Given the description of an element on the screen output the (x, y) to click on. 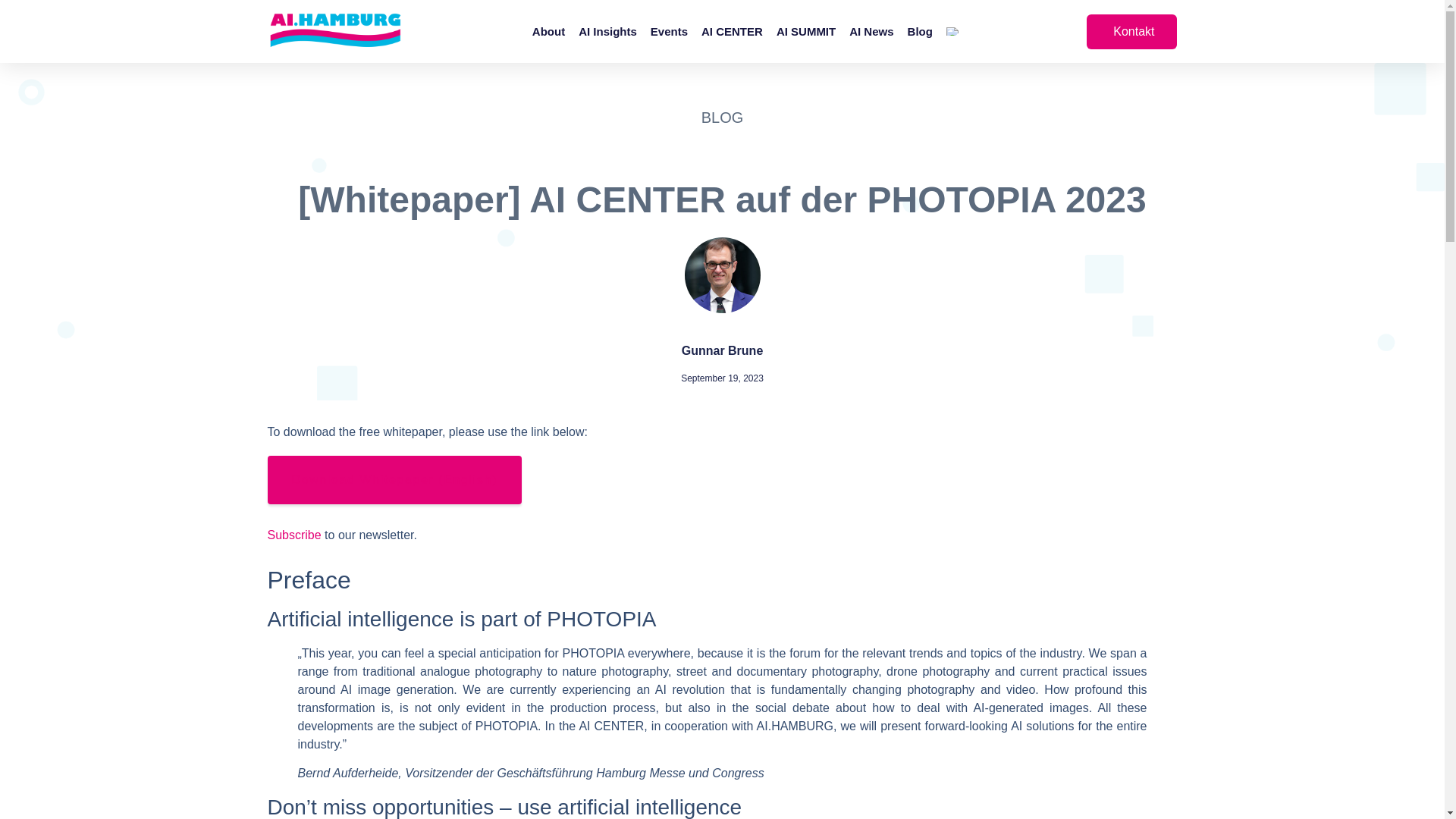
AI Insights (607, 30)
Events (668, 30)
About (548, 30)
AI CENTER (731, 30)
AI SUMMIT (805, 30)
AI News (870, 30)
